Given the description of an element on the screen output the (x, y) to click on. 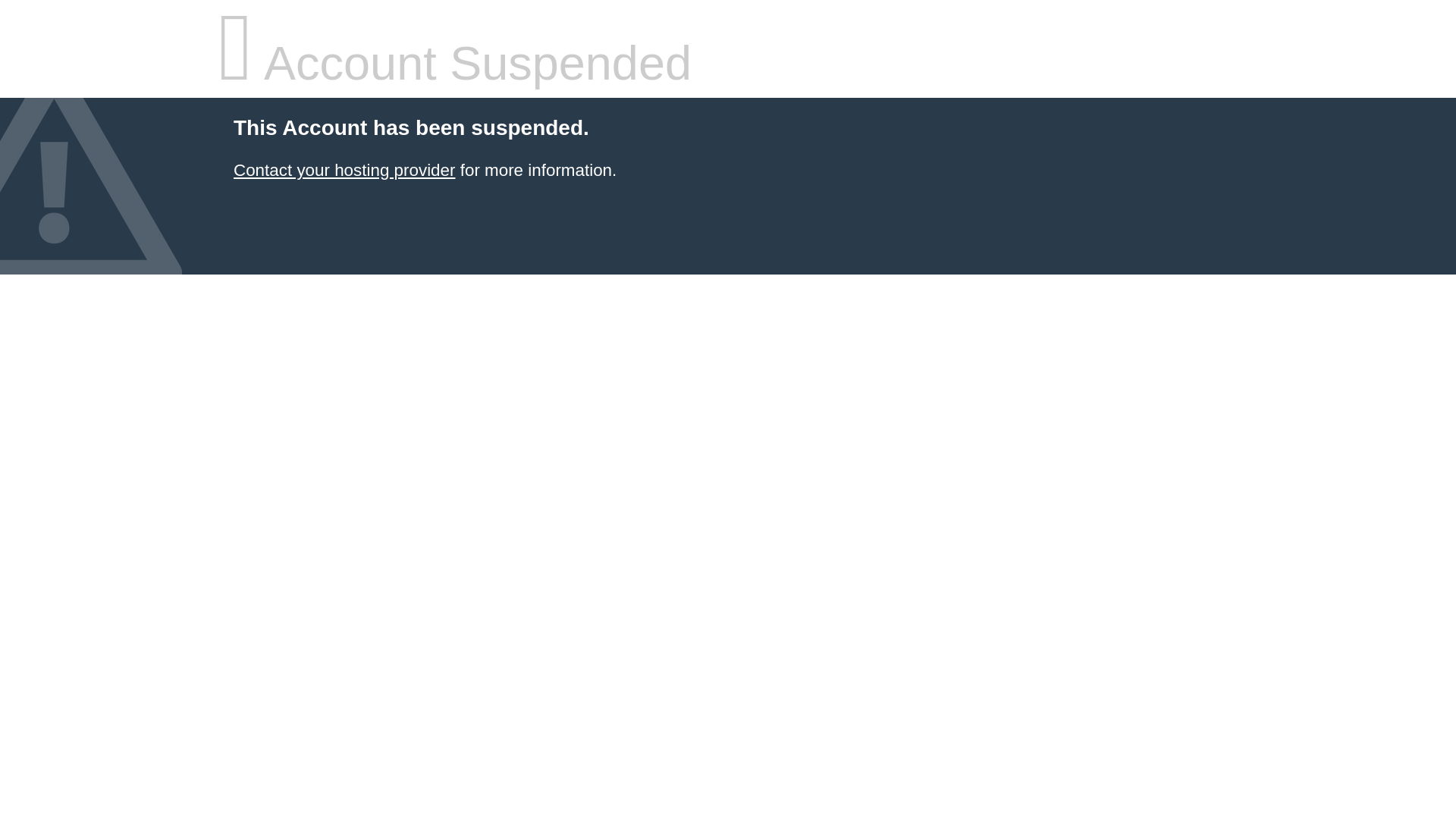
Contact your hosting provider (343, 169)
